Given the description of an element on the screen output the (x, y) to click on. 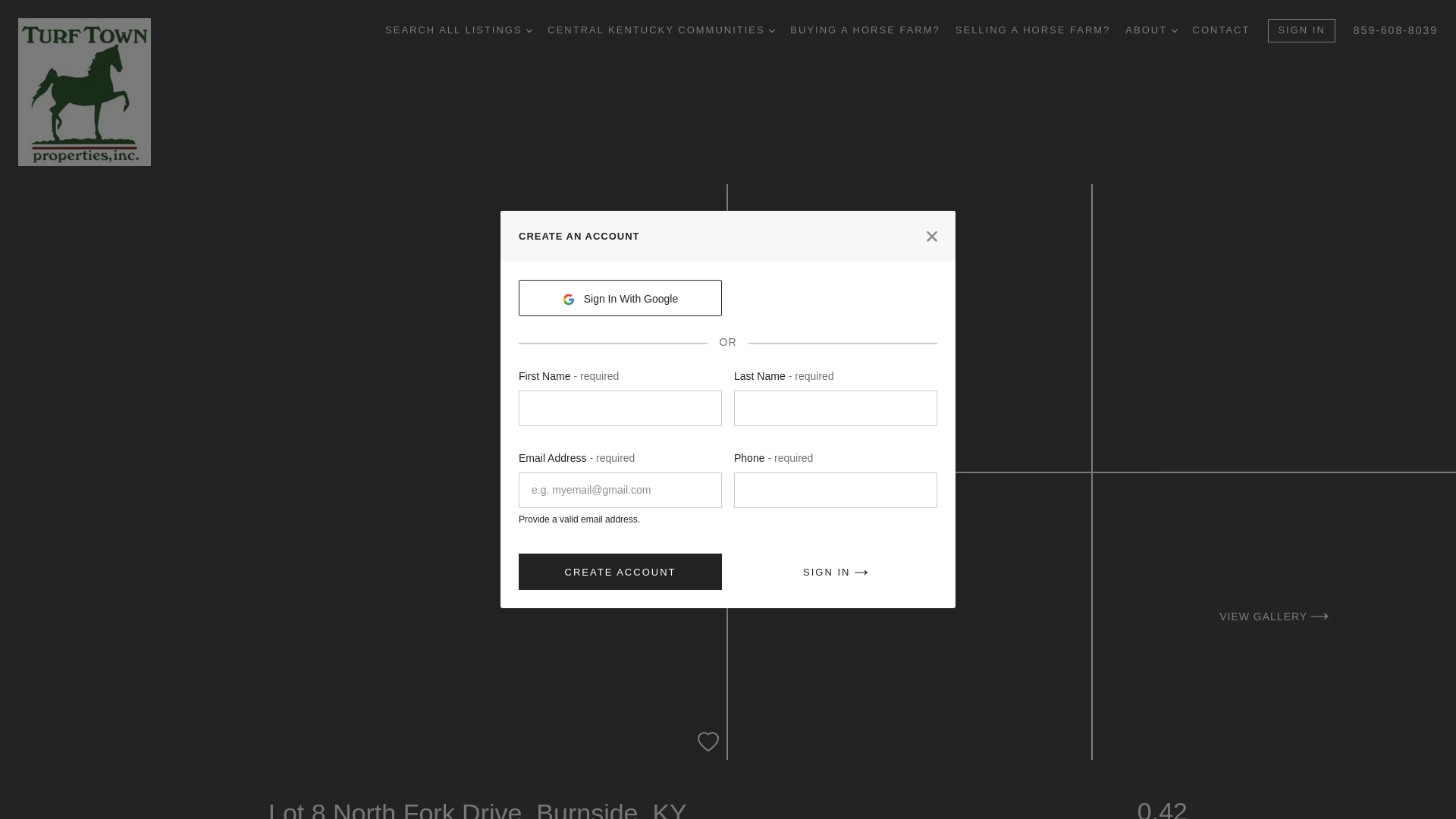
SELLING A HORSE FARM? (1032, 30)
CONTACT (1221, 30)
DROPDOWN ARROW (528, 30)
ABOUT DROPDOWN ARROW (1150, 30)
CENTRAL KENTUCKY COMMUNITIES DROPDOWN ARROW (660, 30)
SEARCH ALL LISTINGS DROPDOWN ARROW (458, 30)
SIGN IN (1301, 30)
859-608-8039 (1396, 29)
DROPDOWN ARROW (771, 30)
DROPDOWN ARROW (1174, 30)
